Given the description of an element on the screen output the (x, y) to click on. 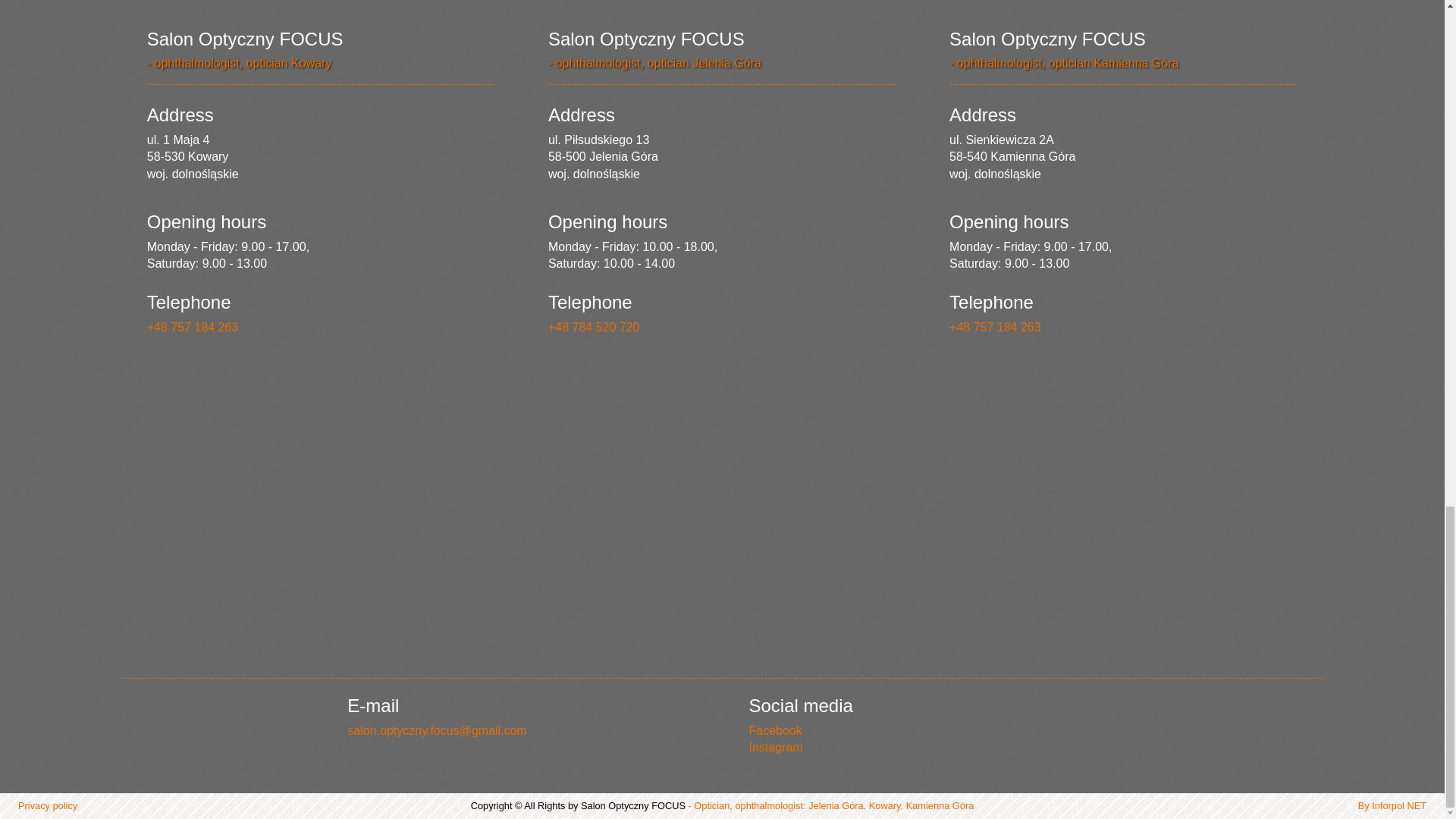
Runs the default program (192, 327)
Salon Optyczny FOCUS - optyk Kowary (321, 502)
- ophthalmologist, optician Kowary (239, 62)
